Given the description of an element on the screen output the (x, y) to click on. 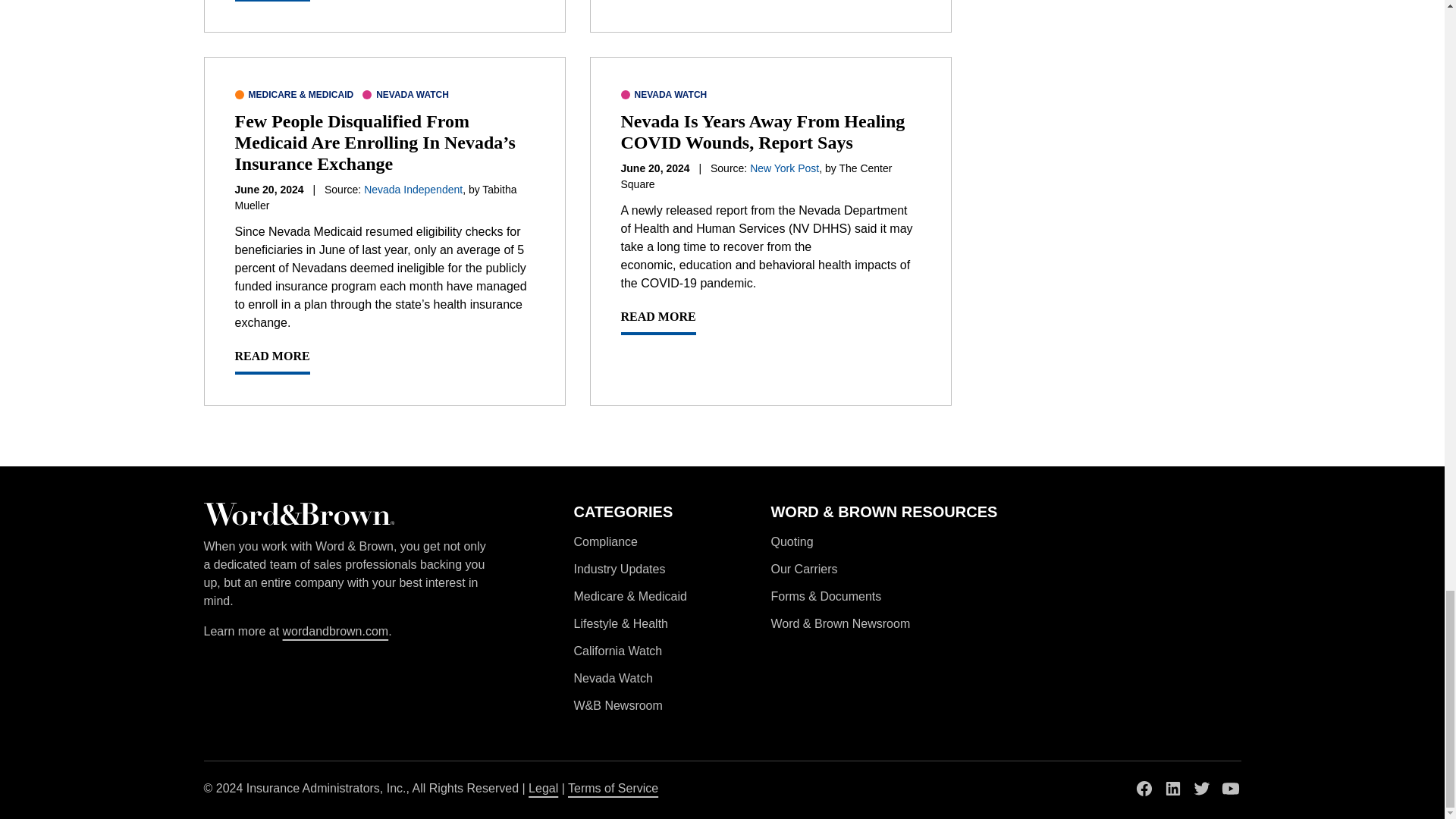
NEVADA WATCH (405, 94)
READ MORE (272, 360)
Nevada Independent (413, 189)
Nevada Is Years Away From Healing COVID Wounds, Report Says (762, 131)
READ MORE (272, 0)
NEVADA WATCH (663, 94)
New York Post (783, 168)
READ MORE (657, 320)
